Given the description of an element on the screen output the (x, y) to click on. 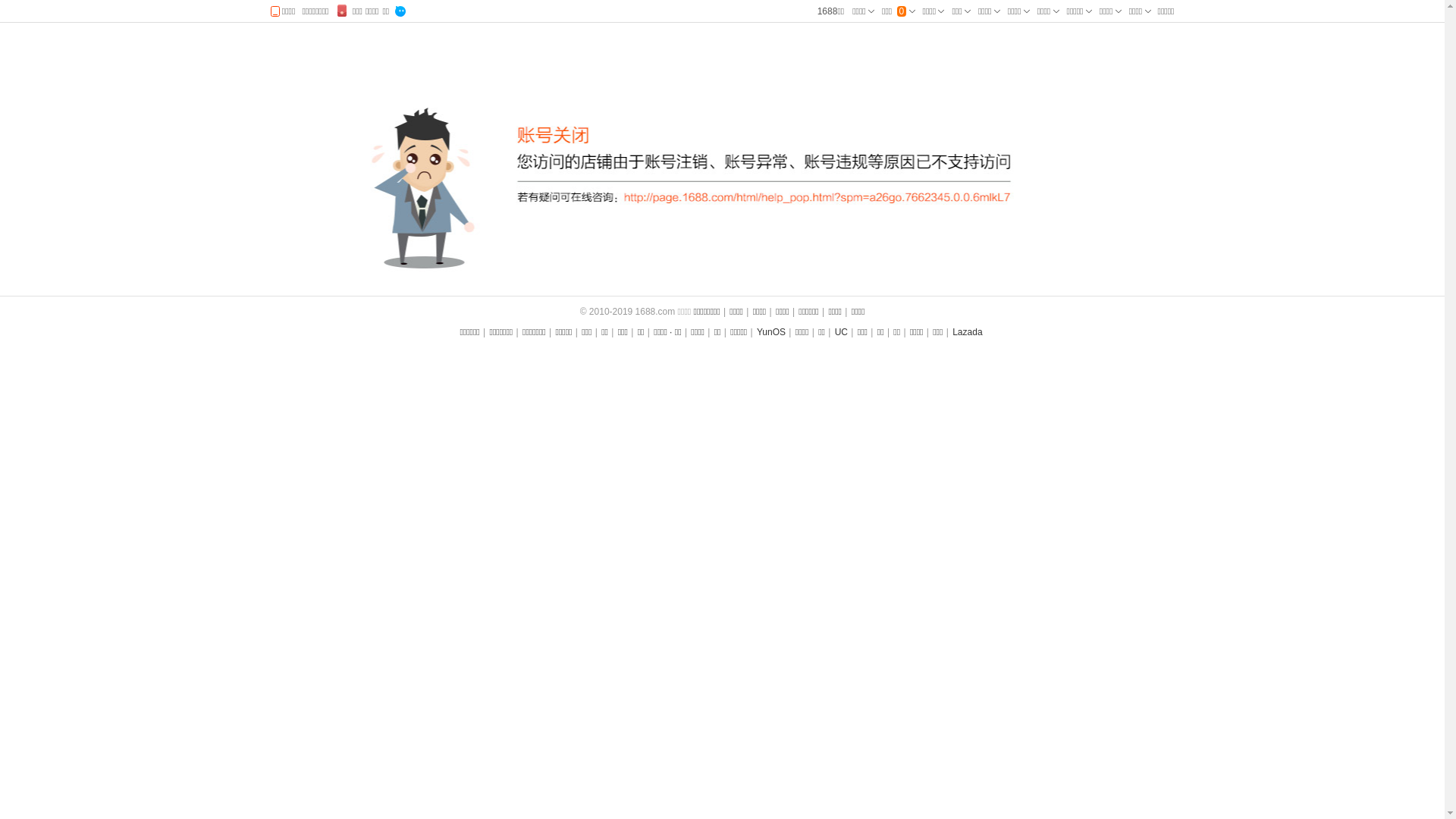
Lazada Element type: text (967, 331)
YunOS Element type: text (770, 331)
UC Element type: text (840, 331)
